Given the description of an element on the screen output the (x, y) to click on. 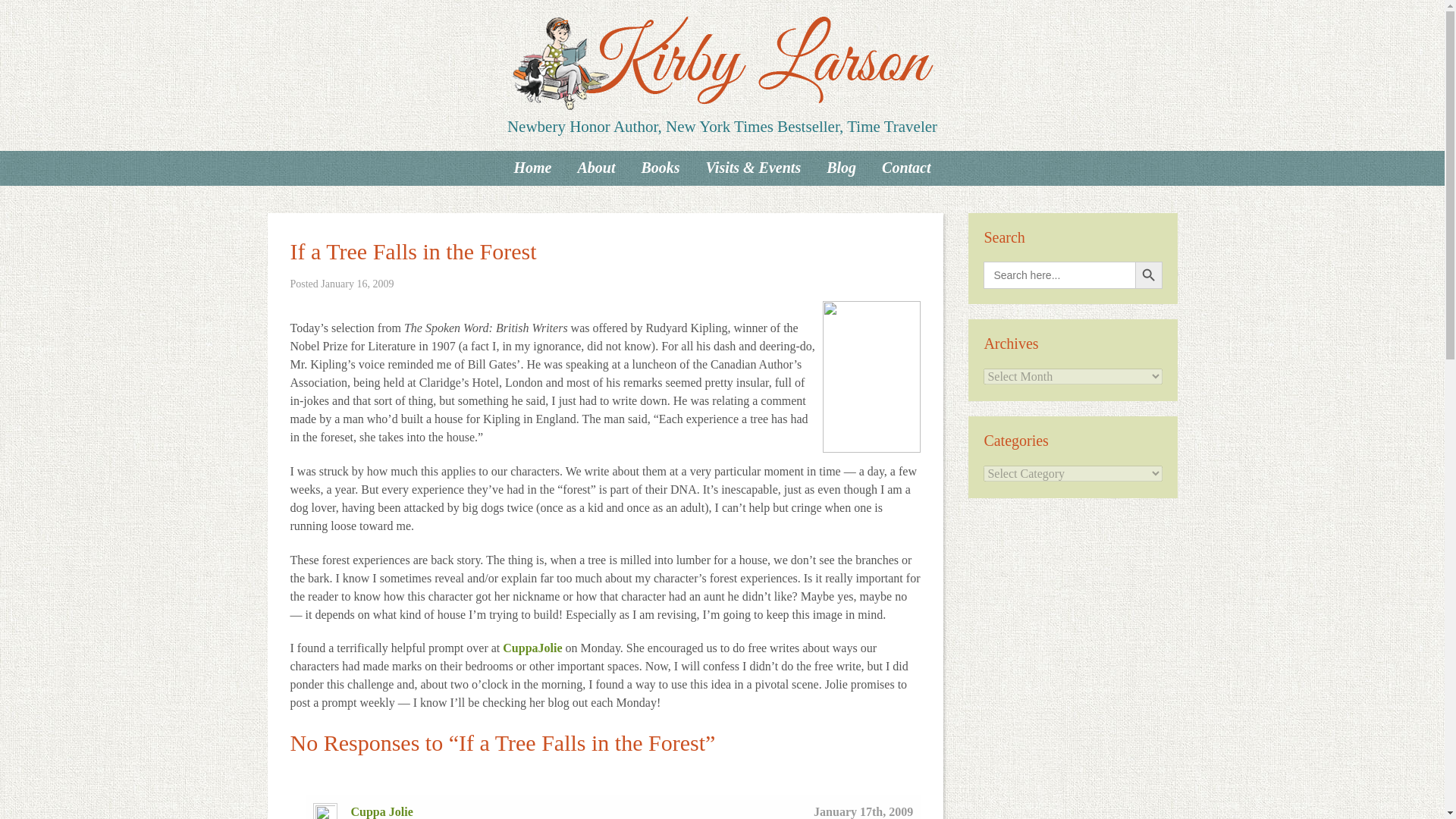
Contact (906, 167)
Cuppa Jolie (381, 811)
CuppaJolie (532, 647)
Blog (841, 167)
Home (532, 167)
Search Button (1147, 275)
About (596, 167)
January 17th, 2009 (862, 811)
Books (659, 167)
